Given the description of an element on the screen output the (x, y) to click on. 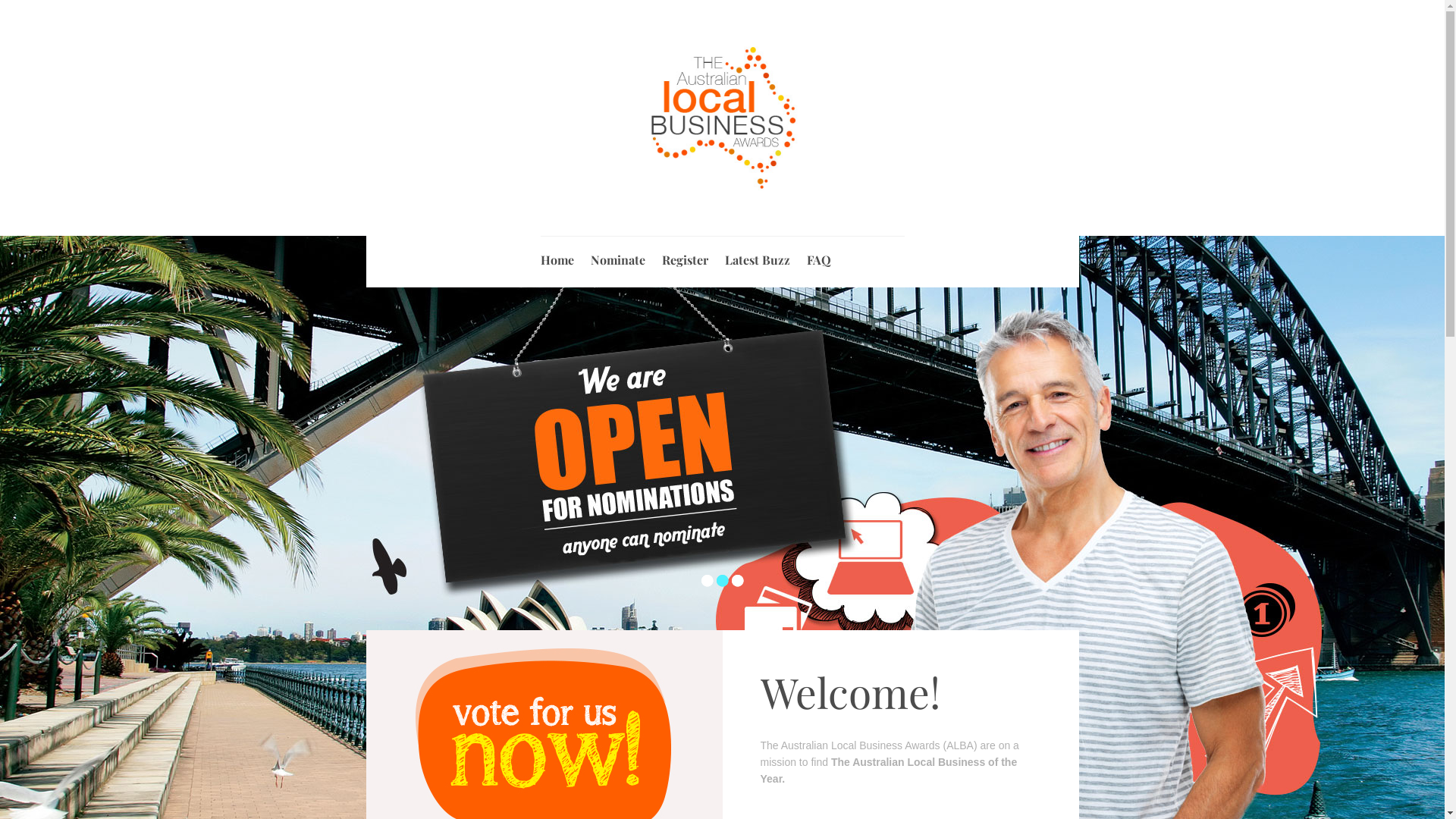
Home Element type: text (556, 255)
FAQ Element type: text (818, 255)
Latest Buzz Element type: text (757, 255)
Register Element type: text (684, 255)
Nominate Element type: text (616, 255)
